Given the description of an element on the screen output the (x, y) to click on. 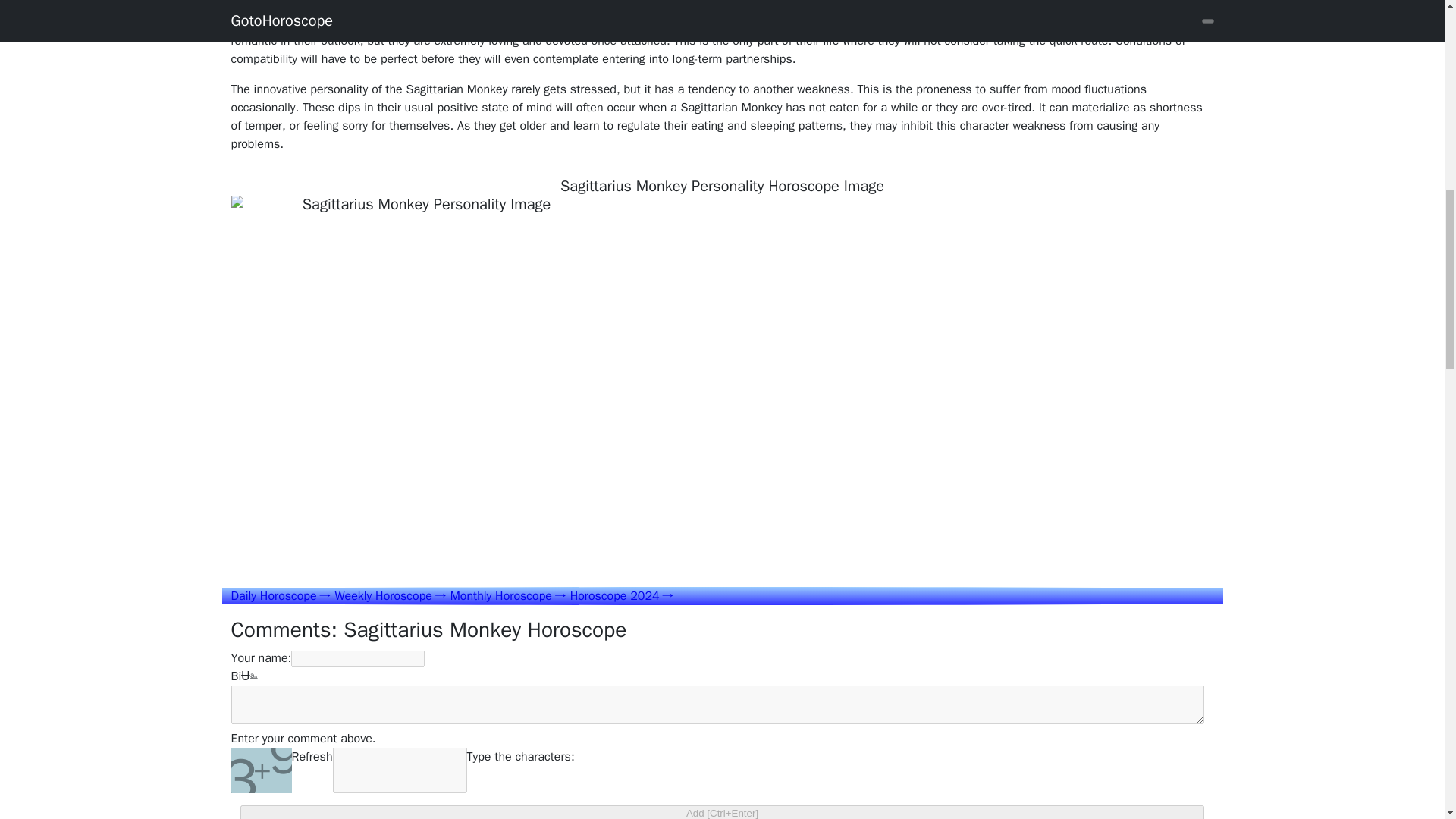
B (234, 676)
Horoscope 2024 (622, 595)
Horoscope 2024 (622, 595)
i (239, 676)
Refresh (311, 770)
Monthly Horoscope (507, 595)
Monthly Horoscope (507, 595)
Daily Horoscope for Today and Tomorrow (280, 595)
Weekly Horoscope (389, 595)
Weekly Horoscope (389, 595)
Daily Horoscope (280, 595)
